Given the description of an element on the screen output the (x, y) to click on. 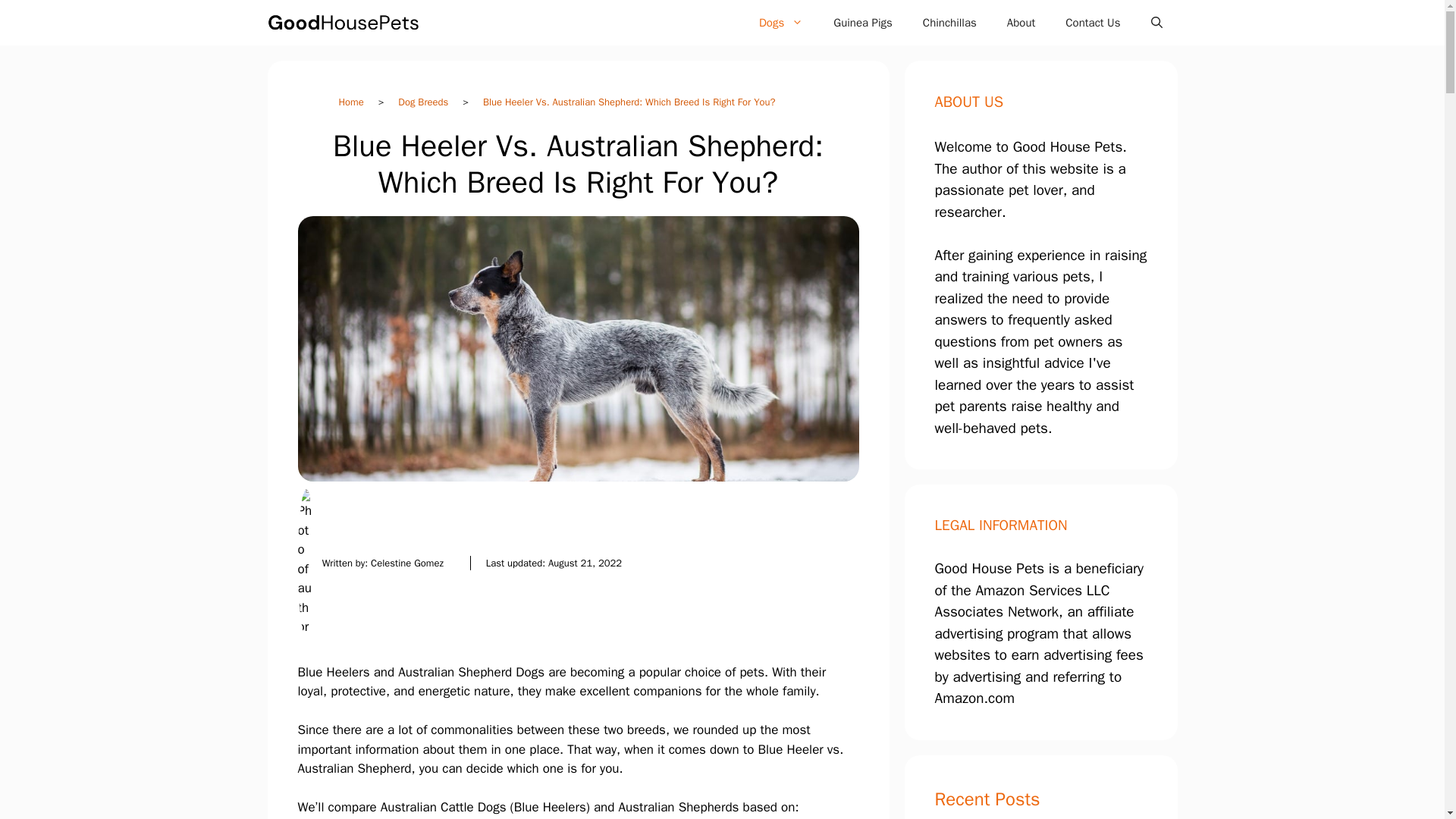
About (1020, 22)
Home (350, 101)
Chinchillas (949, 22)
Good House Pets (342, 22)
Contact Us (1092, 22)
Dog Breeds (422, 101)
Guinea Pigs (862, 22)
Dogs (781, 22)
Dog Breeds (422, 101)
Home (350, 101)
